Given the description of an element on the screen output the (x, y) to click on. 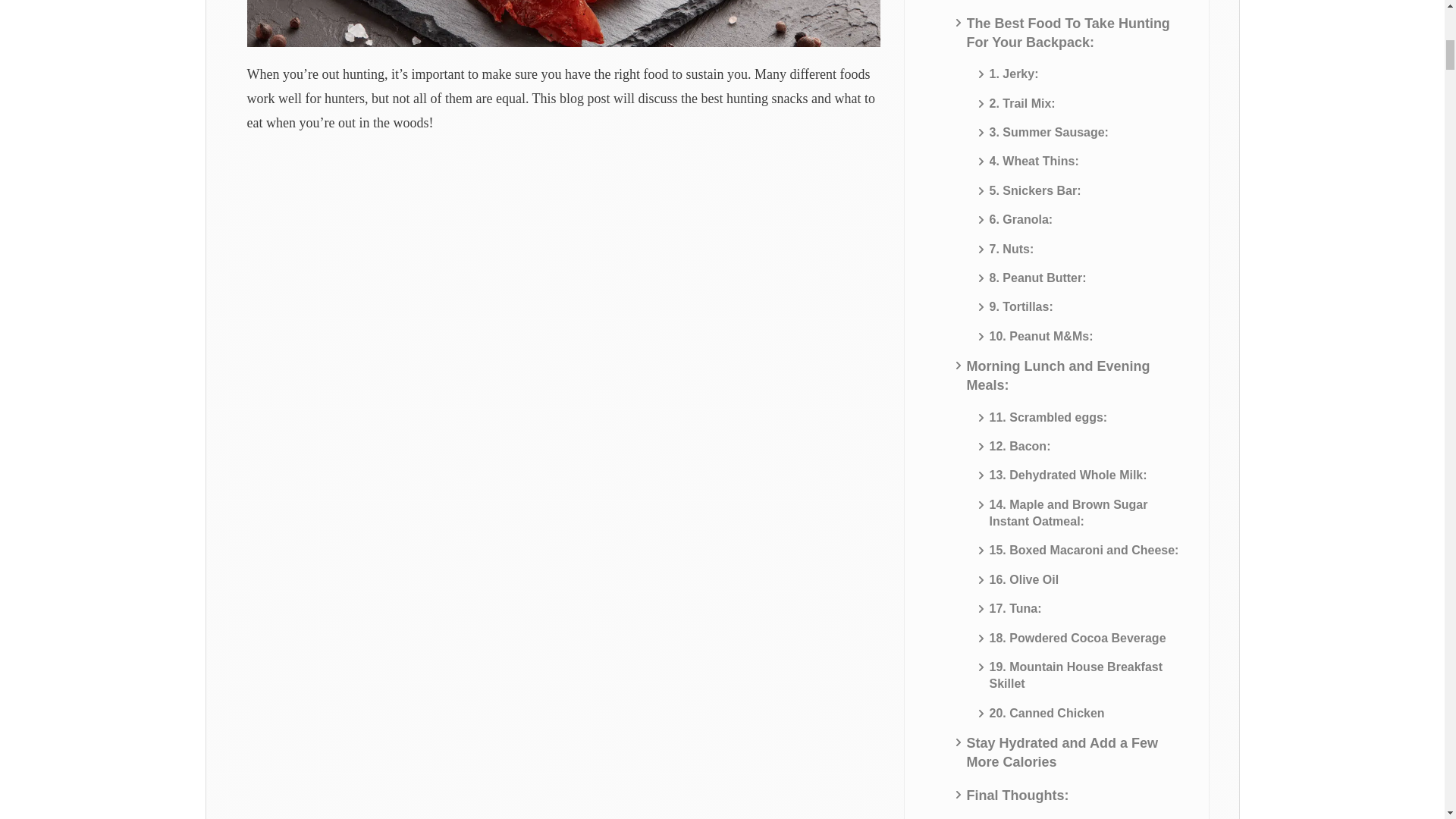
11. Scrambled eggs: (1049, 417)
18. Powdered Cocoa Beverage (1078, 638)
Final Thoughts: (1017, 795)
Morning Lunch and Evening Meals: (1074, 375)
12. Bacon: (1020, 446)
9. Tortillas: (1021, 306)
17. Tuna: (1016, 608)
16. Olive Oil (1024, 579)
Stay Hydrated and Add a Few More Calories (1074, 752)
5. Snickers Bar: (1035, 190)
4. Wheat Thins: (1034, 161)
2. Trail Mix: (1022, 103)
15. Boxed Macaroni and Cheese: (1084, 550)
8. Peanut Butter: (1038, 278)
13. Dehydrated Whole Milk: (1068, 475)
